Given the description of an element on the screen output the (x, y) to click on. 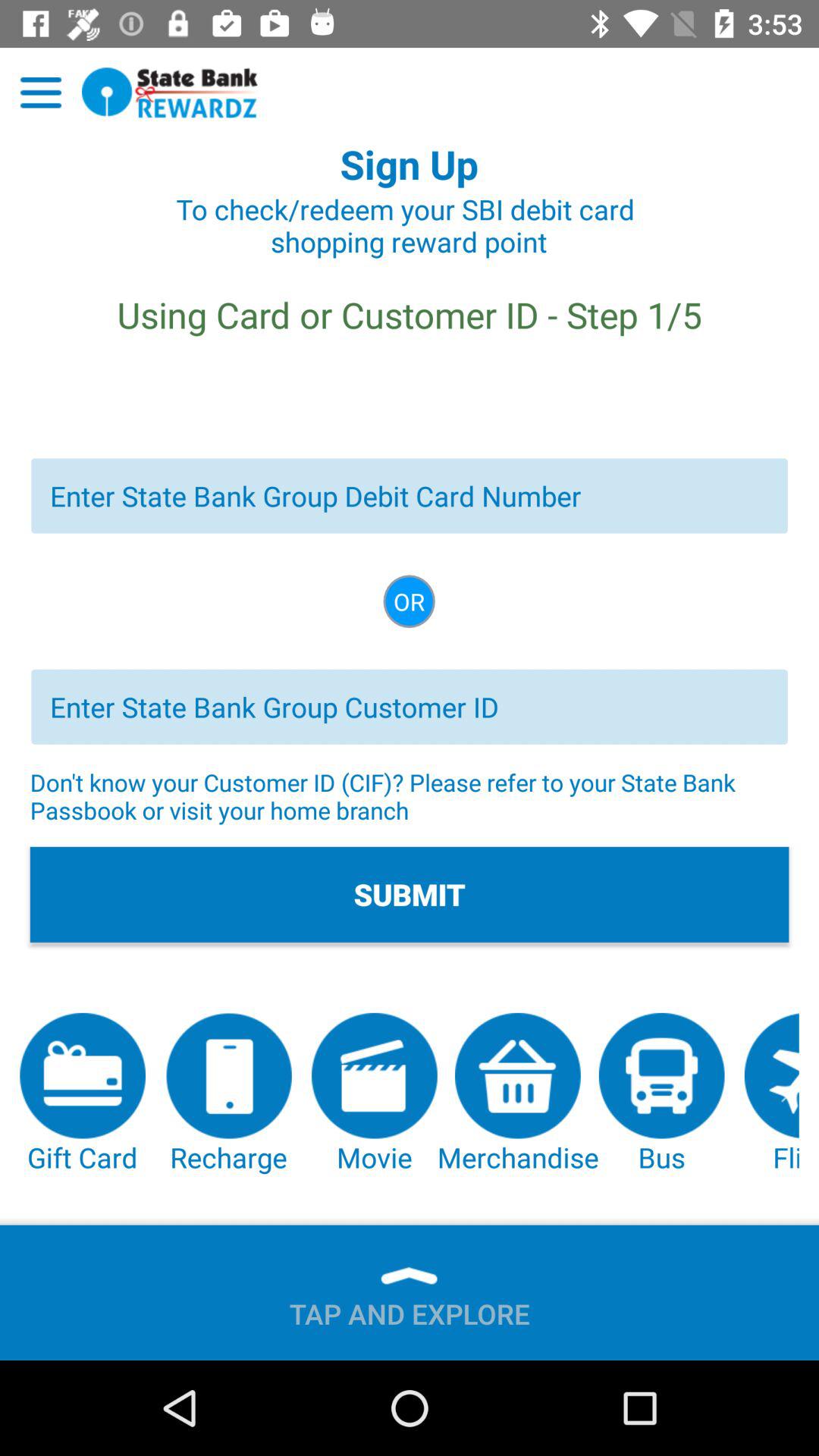
tap the icon next to bus icon (517, 1094)
